Given the description of an element on the screen output the (x, y) to click on. 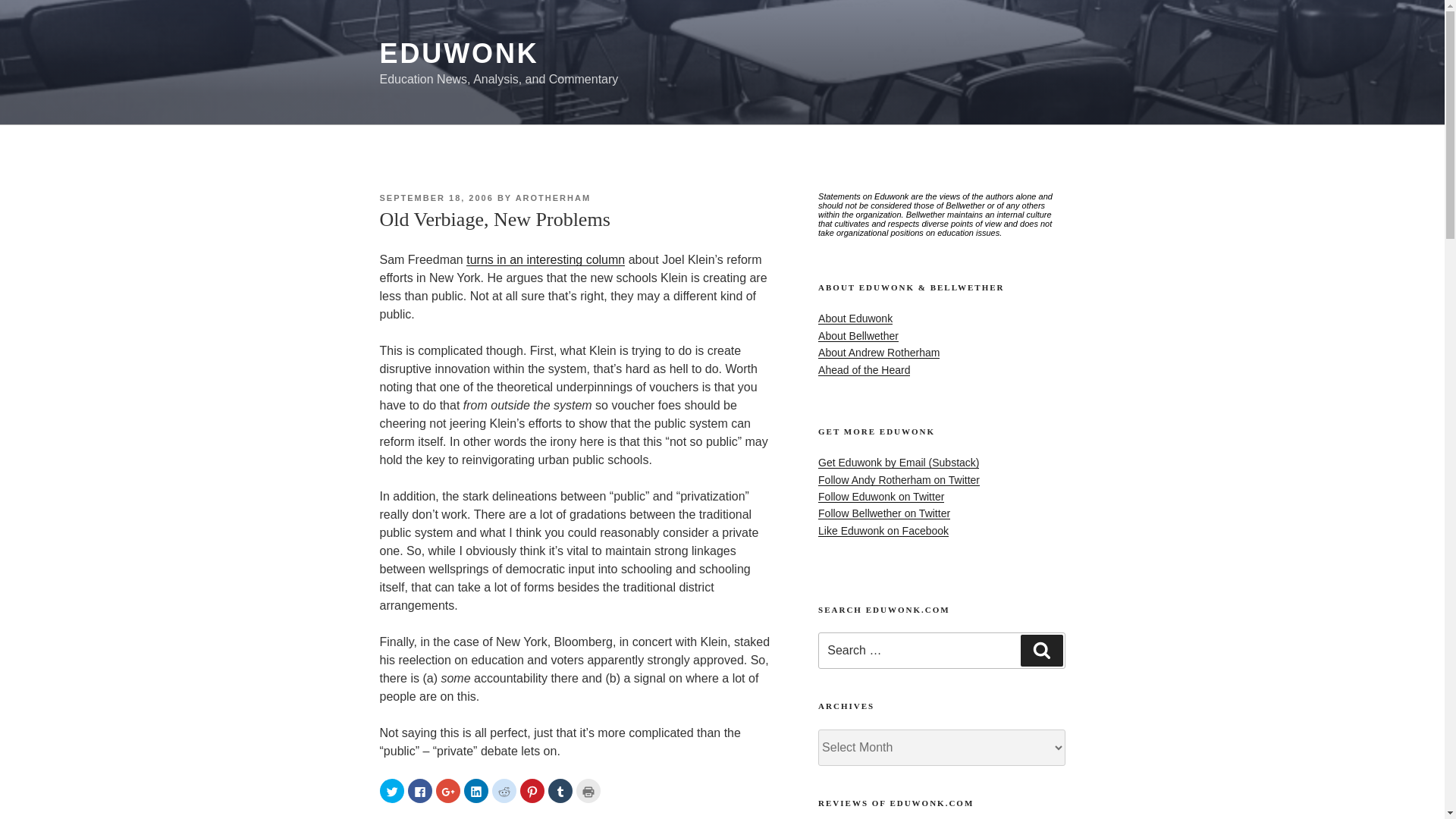
Follow Andy Rotherham on Twitter (898, 480)
About Bellwether (858, 336)
Click to share on Facebook (419, 790)
EDUWONK (458, 52)
Follow Bellwether on Twitter (884, 512)
Follow Eduwonk on Twitter (880, 496)
turns in an interesting column (544, 259)
Like Eduwonk on Facebook (883, 530)
Search (1041, 650)
About Andrew Rotherham (878, 352)
